Given the description of an element on the screen output the (x, y) to click on. 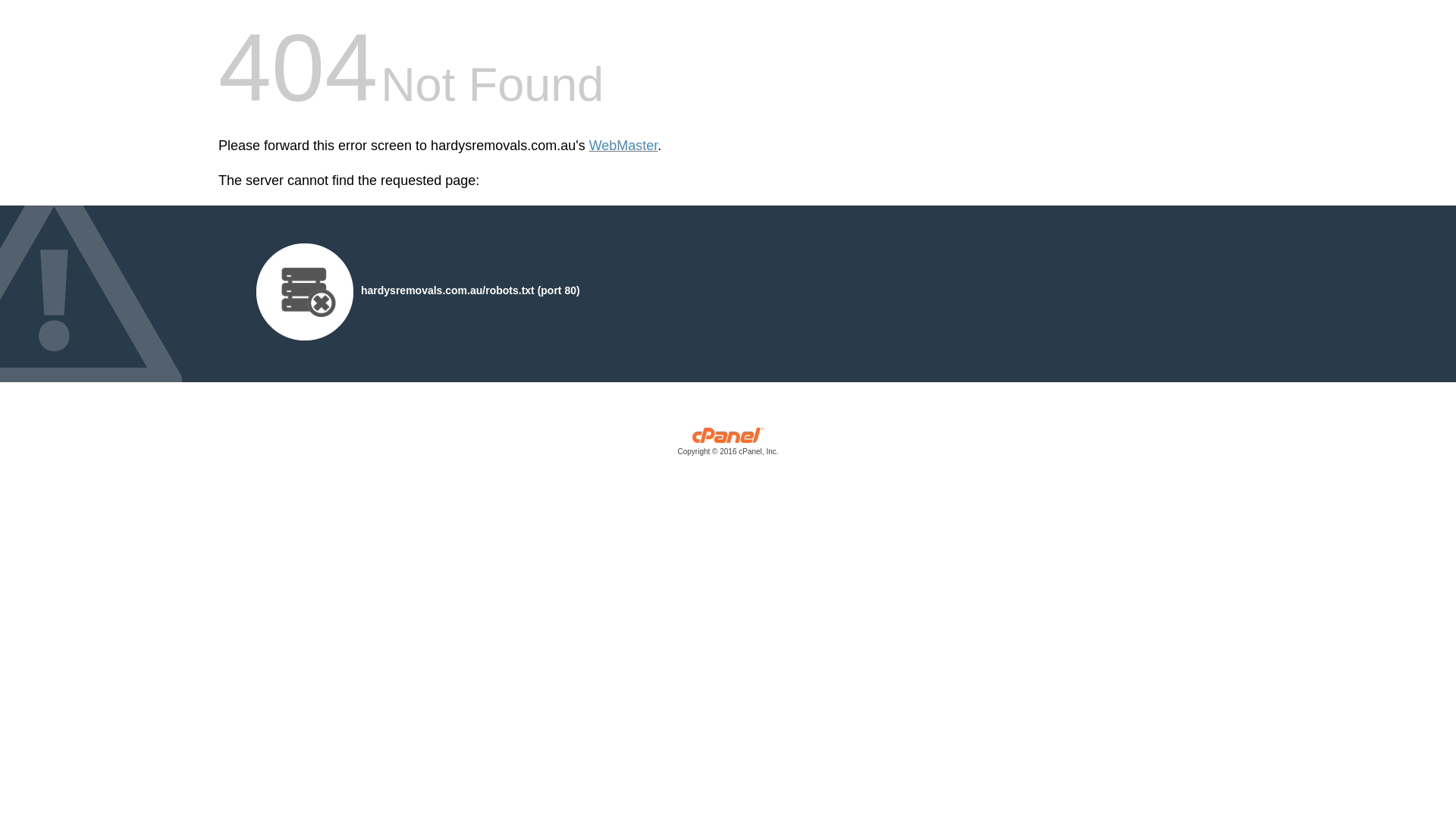
WebMaster Element type: text (623, 145)
